Given the description of an element on the screen output the (x, y) to click on. 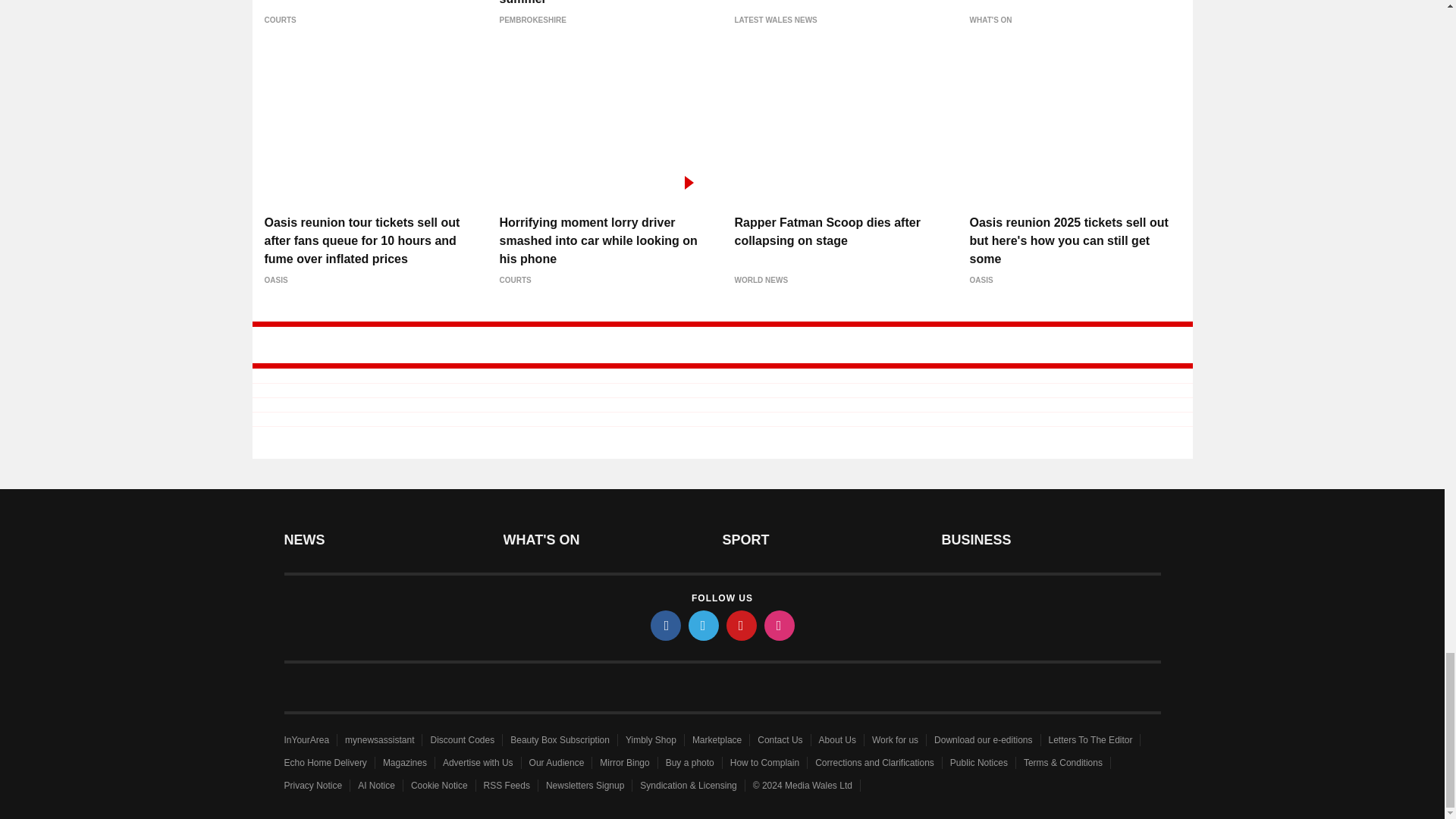
twitter (703, 625)
instagram (779, 625)
pinterest (741, 625)
facebook (665, 625)
